Given the description of an element on the screen output the (x, y) to click on. 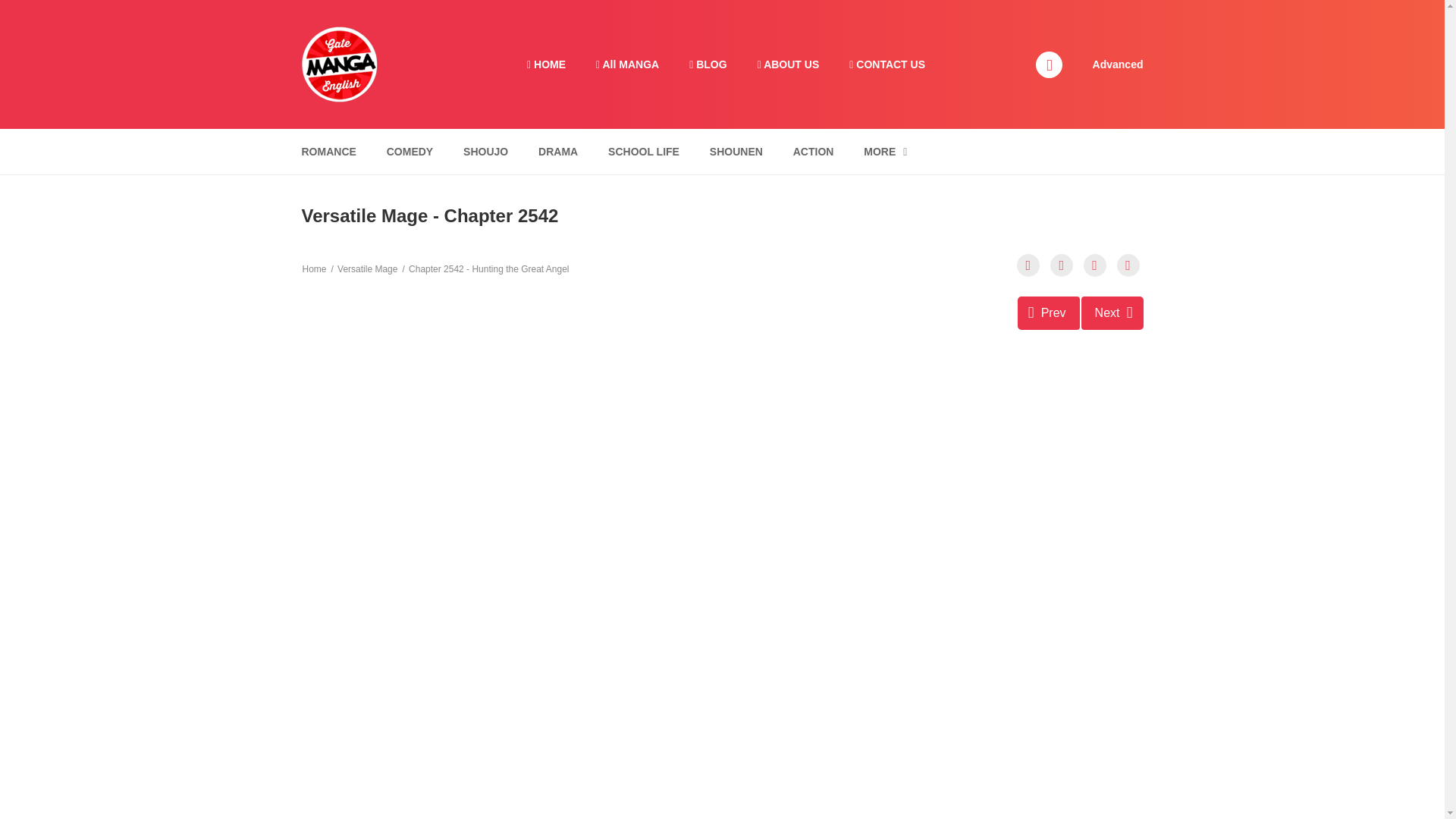
Advanced (1117, 63)
COMEDY (409, 151)
CONTACT US (887, 64)
DRAMA (558, 151)
BLOG (707, 64)
Chapter 2543 (1111, 313)
ROMANCE (328, 151)
SCHOOL LIFE (643, 151)
SHOUJO (485, 151)
HOME (546, 64)
